Given the description of an element on the screen output the (x, y) to click on. 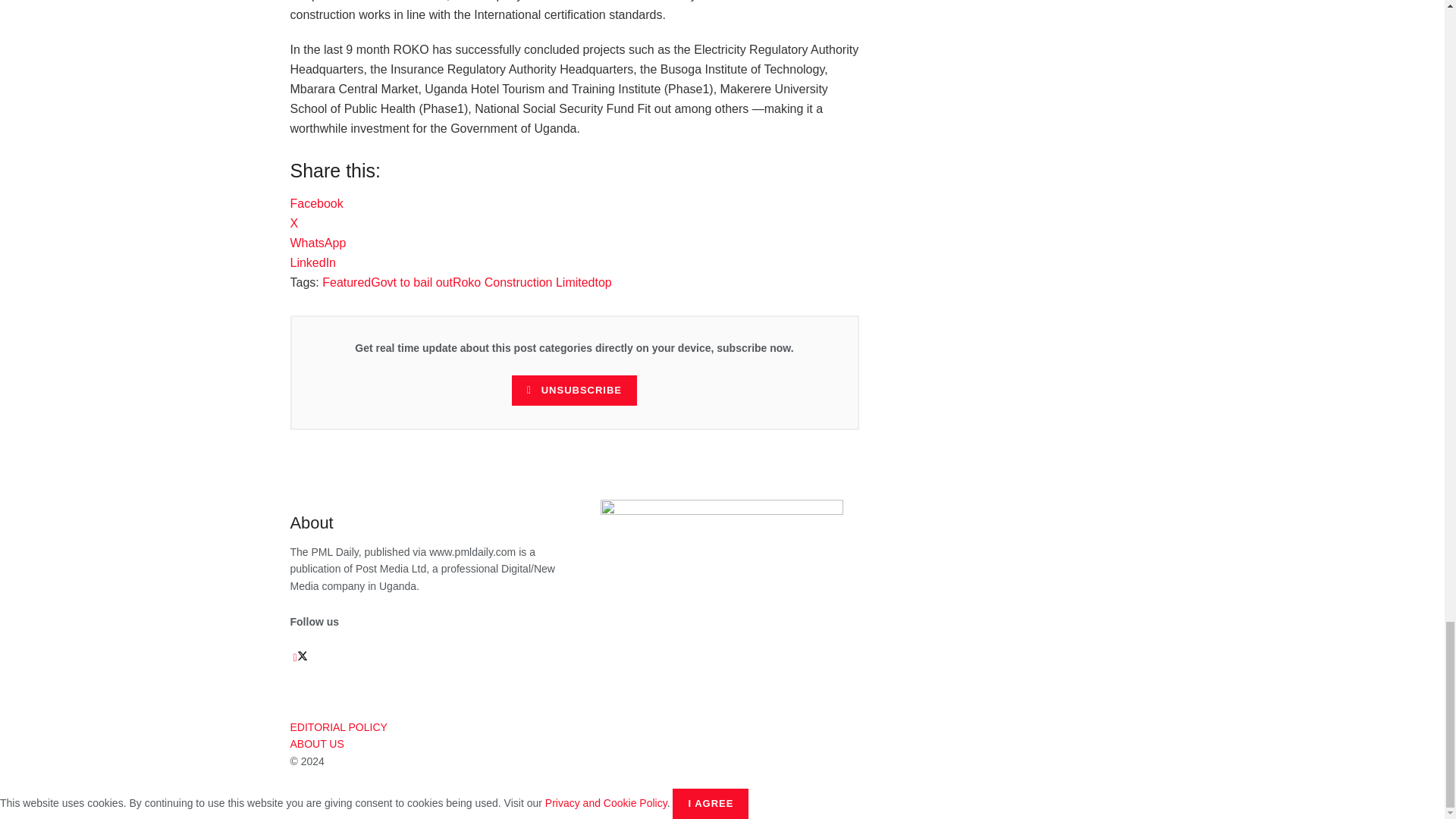
Click to share on WhatsApp (317, 242)
Click to share on X (293, 223)
Click to share on Facebook (315, 203)
Click to share on LinkedIn (312, 262)
